Given the description of an element on the screen output the (x, y) to click on. 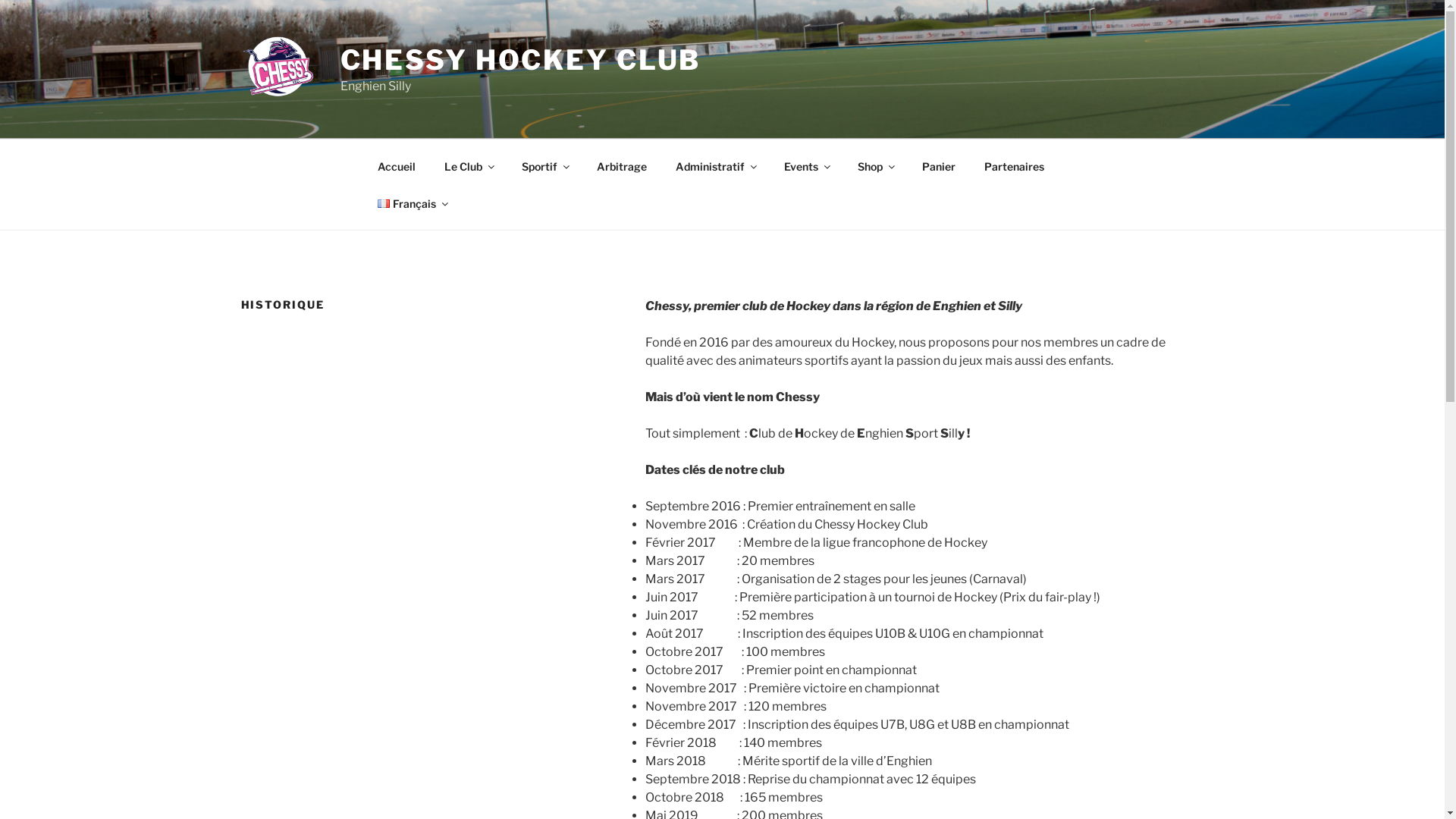
Panier Element type: text (938, 165)
Events Element type: text (805, 165)
Aller au contenu principal Element type: text (0, 0)
Partenaires Element type: text (1013, 165)
CHESSY HOCKEY CLUB Element type: text (519, 59)
Sportif Element type: text (544, 165)
Arbitrage Element type: text (621, 165)
Shop Element type: text (875, 165)
Le Club Element type: text (467, 165)
Accueil Element type: text (396, 165)
Administratif Element type: text (715, 165)
